Given the description of an element on the screen output the (x, y) to click on. 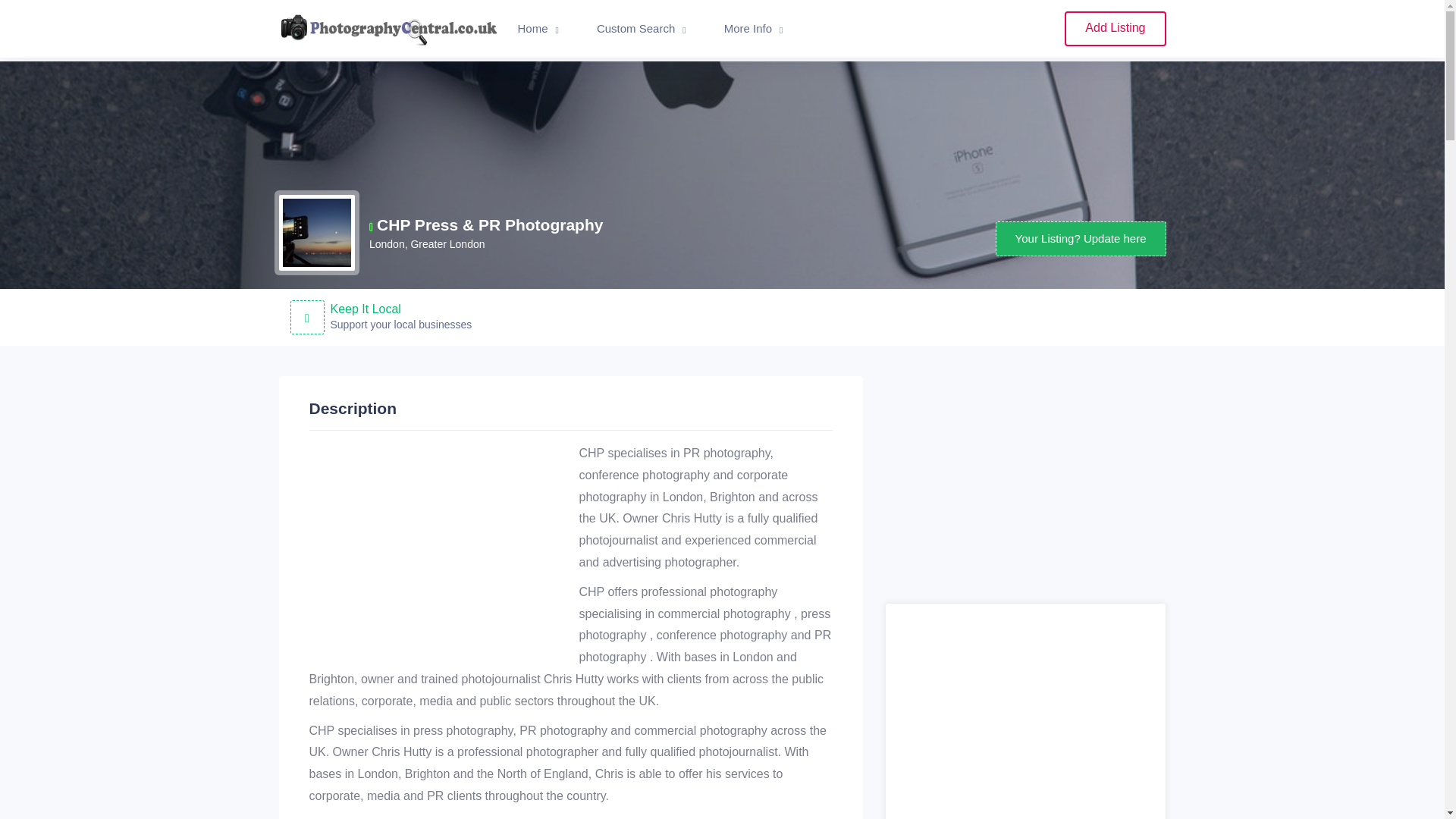
More Info (753, 28)
Custom Search (641, 28)
Your Listing? Update here (1080, 239)
Advertisement (436, 549)
Advertisement (1025, 714)
Home (538, 28)
Add Listing (1115, 28)
Advertisement (1025, 490)
